Given the description of an element on the screen output the (x, y) to click on. 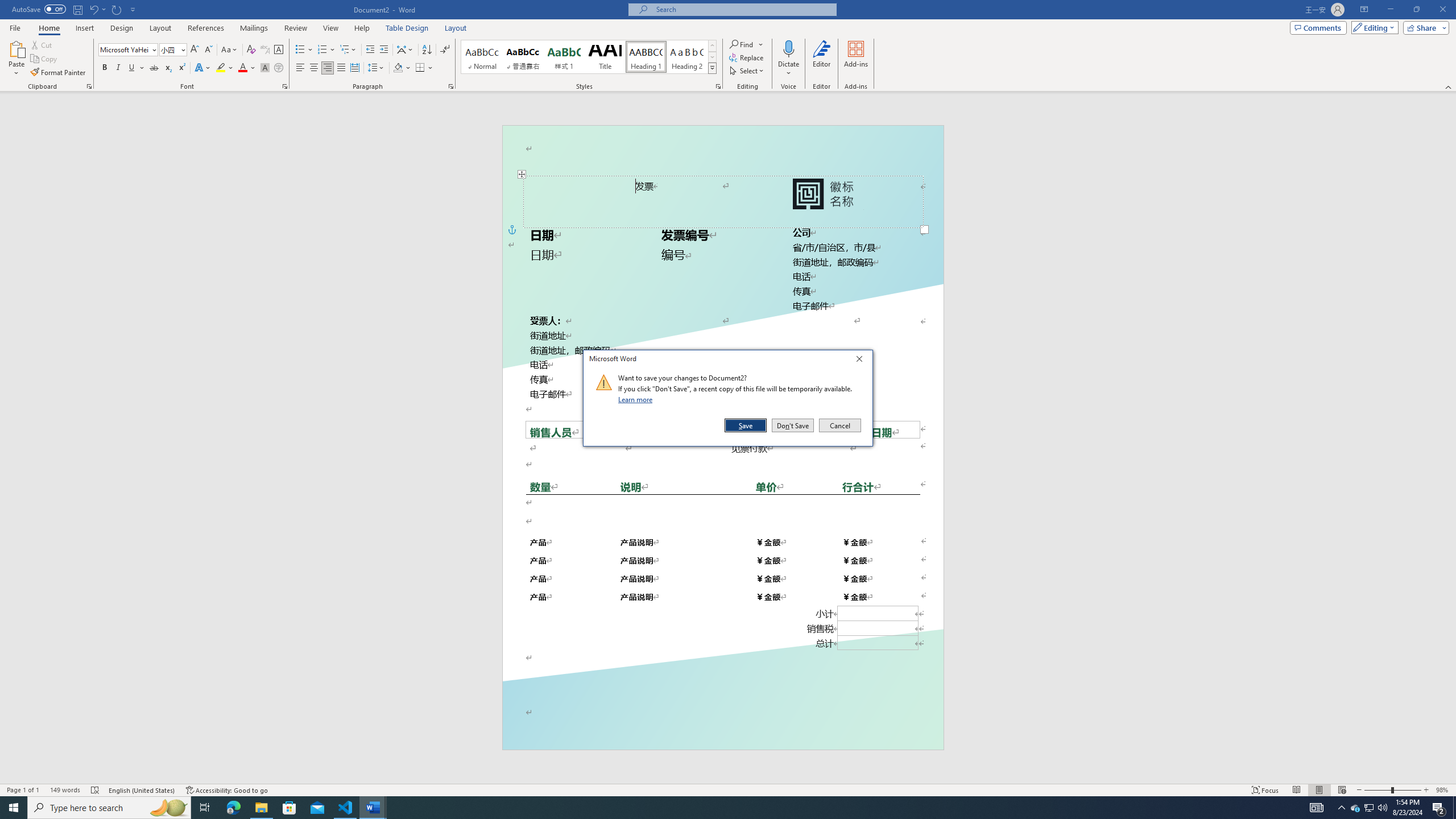
Font Color RGB(255, 0, 0) (241, 67)
